Given the description of an element on the screen output the (x, y) to click on. 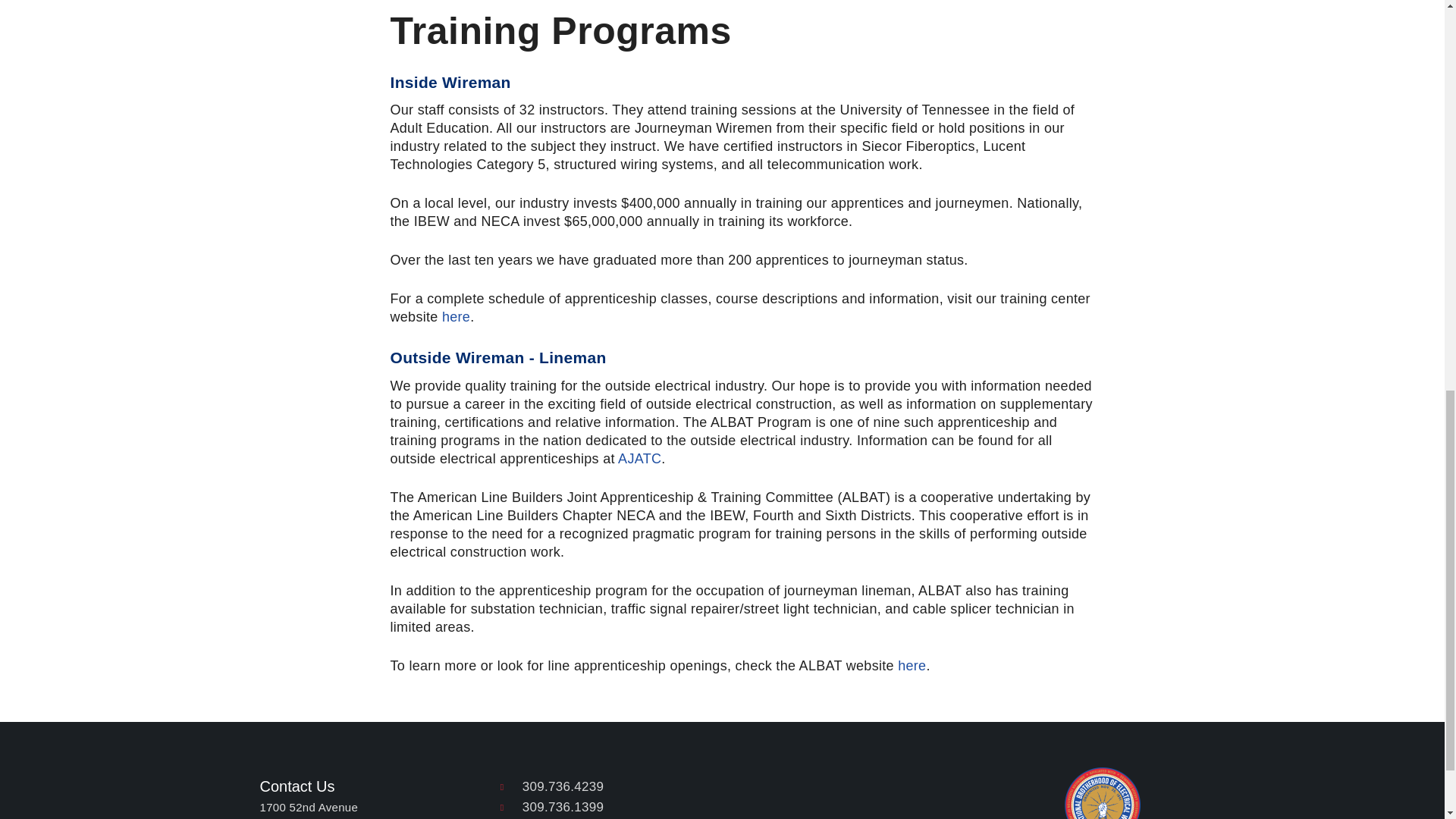
Link opens in new window (639, 458)
